Given the description of an element on the screen output the (x, y) to click on. 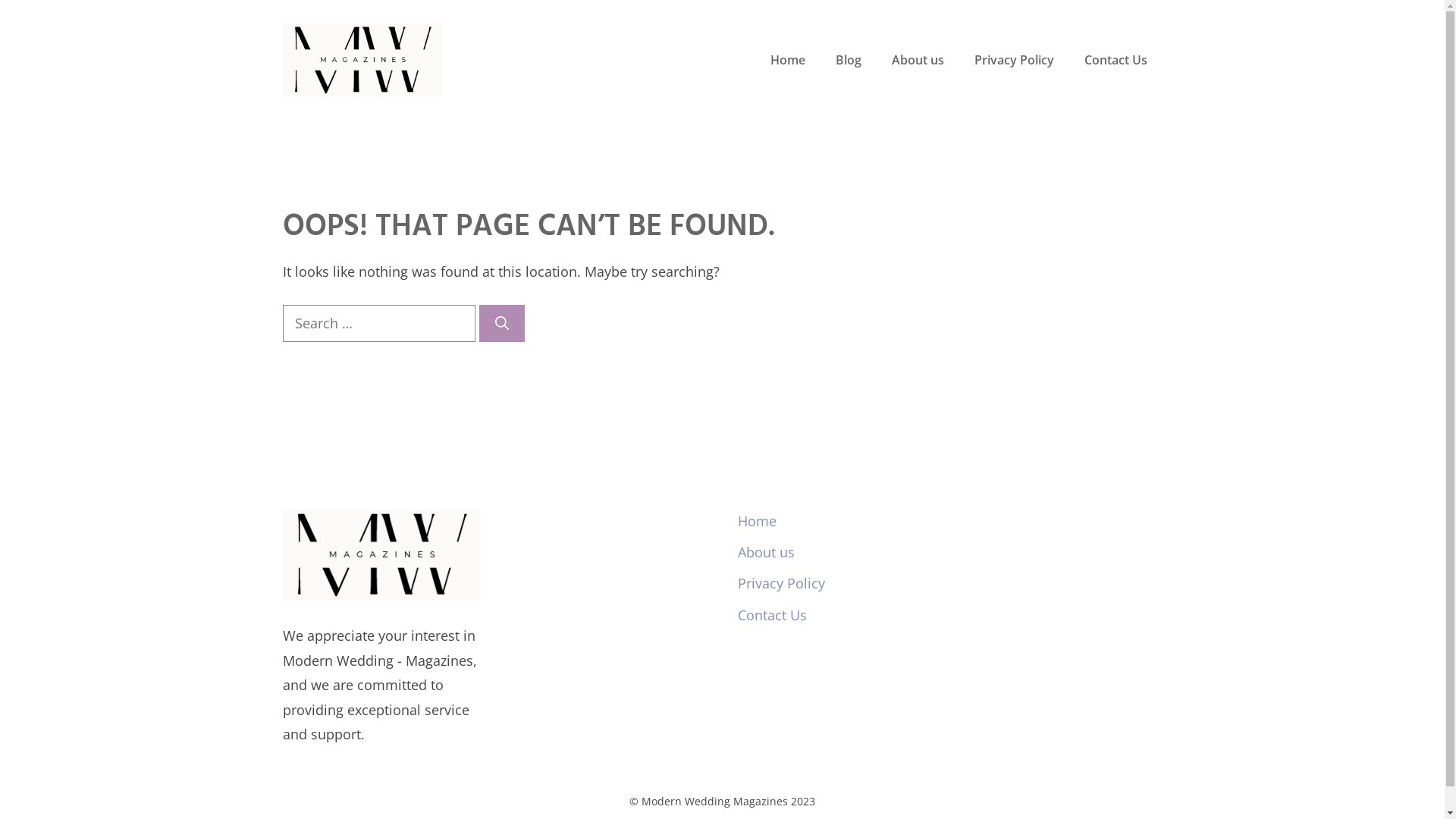
Search for: Element type: hover (378, 323)
About us Element type: text (765, 551)
Privacy Policy Element type: text (780, 583)
Home Element type: text (787, 59)
Home Element type: text (756, 520)
Contact Us Element type: text (1115, 59)
Privacy Policy Element type: text (1013, 59)
Blog Element type: text (848, 59)
About us Element type: text (917, 59)
Contact Us Element type: text (771, 614)
